Given the description of an element on the screen output the (x, y) to click on. 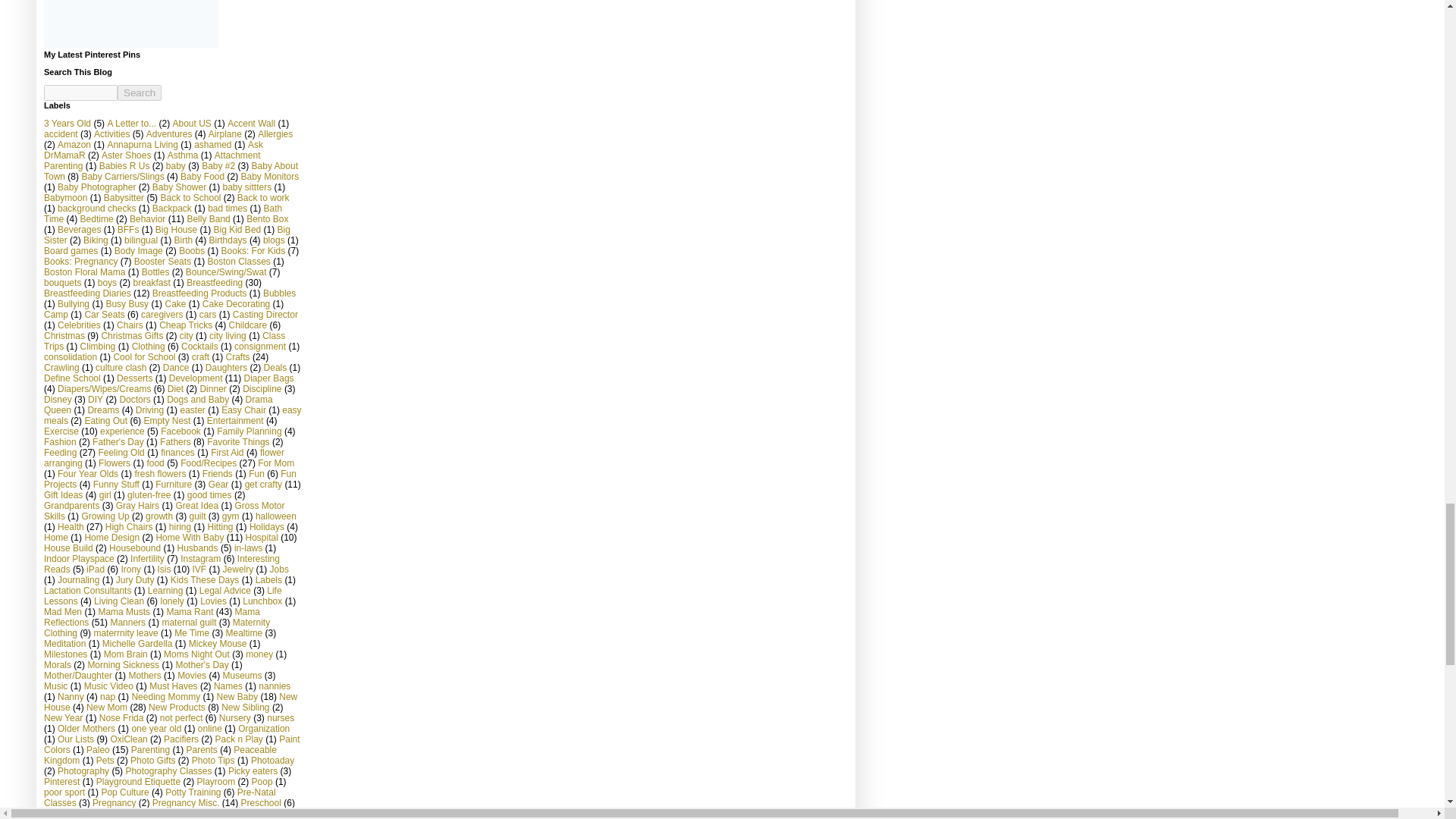
Accent Wall (251, 122)
About US (191, 122)
3 Years Old (66, 122)
search (80, 92)
search (139, 92)
Search (139, 92)
Search (139, 92)
Search (139, 92)
A Letter to... (130, 122)
